Given the description of an element on the screen output the (x, y) to click on. 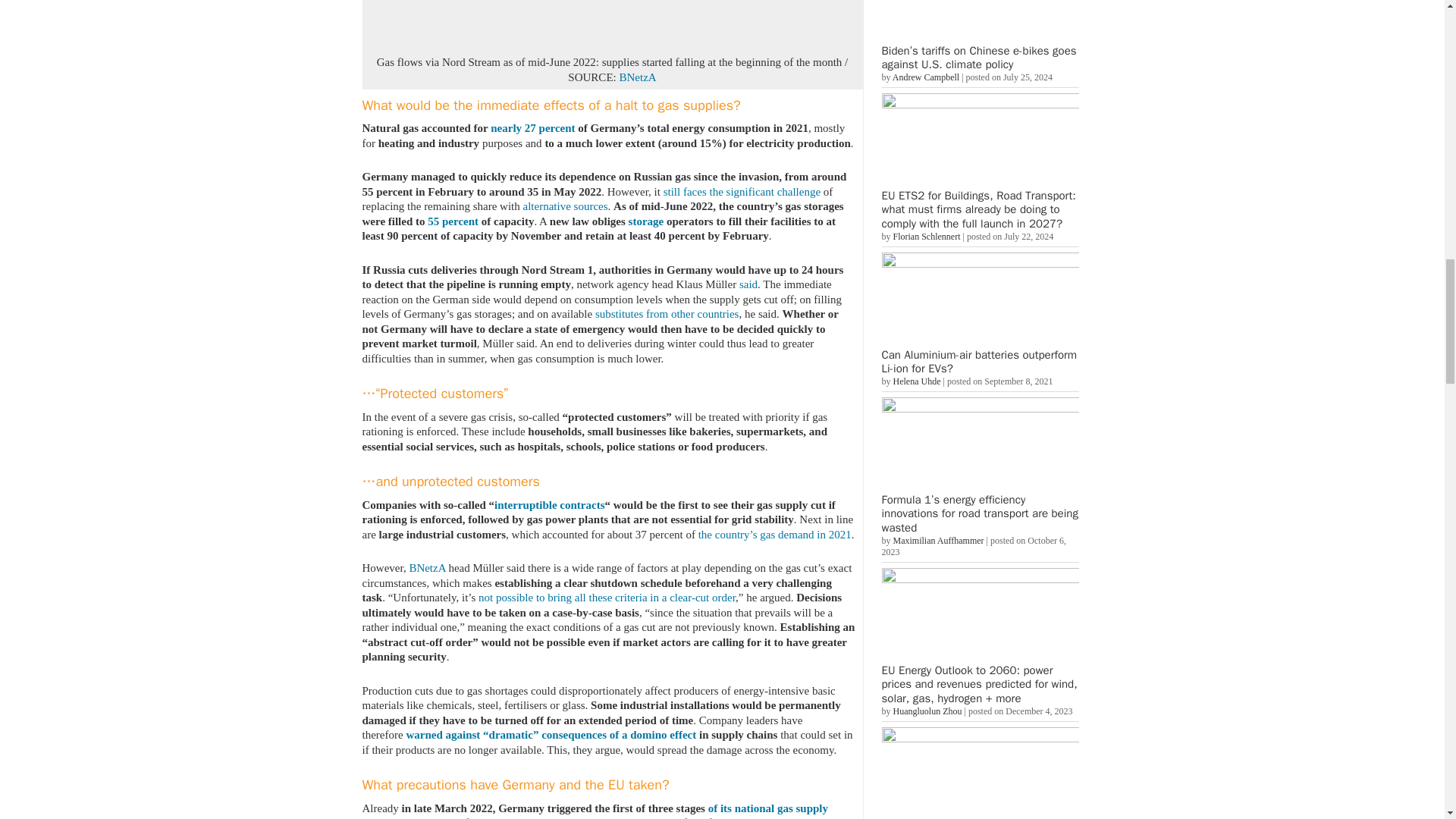
55 percent (453, 221)
storage (645, 221)
nearly 27 percent (532, 128)
BNetzA (637, 77)
still faces the significant challenge (742, 191)
alternative sources (565, 205)
said (748, 284)
